Given the description of an element on the screen output the (x, y) to click on. 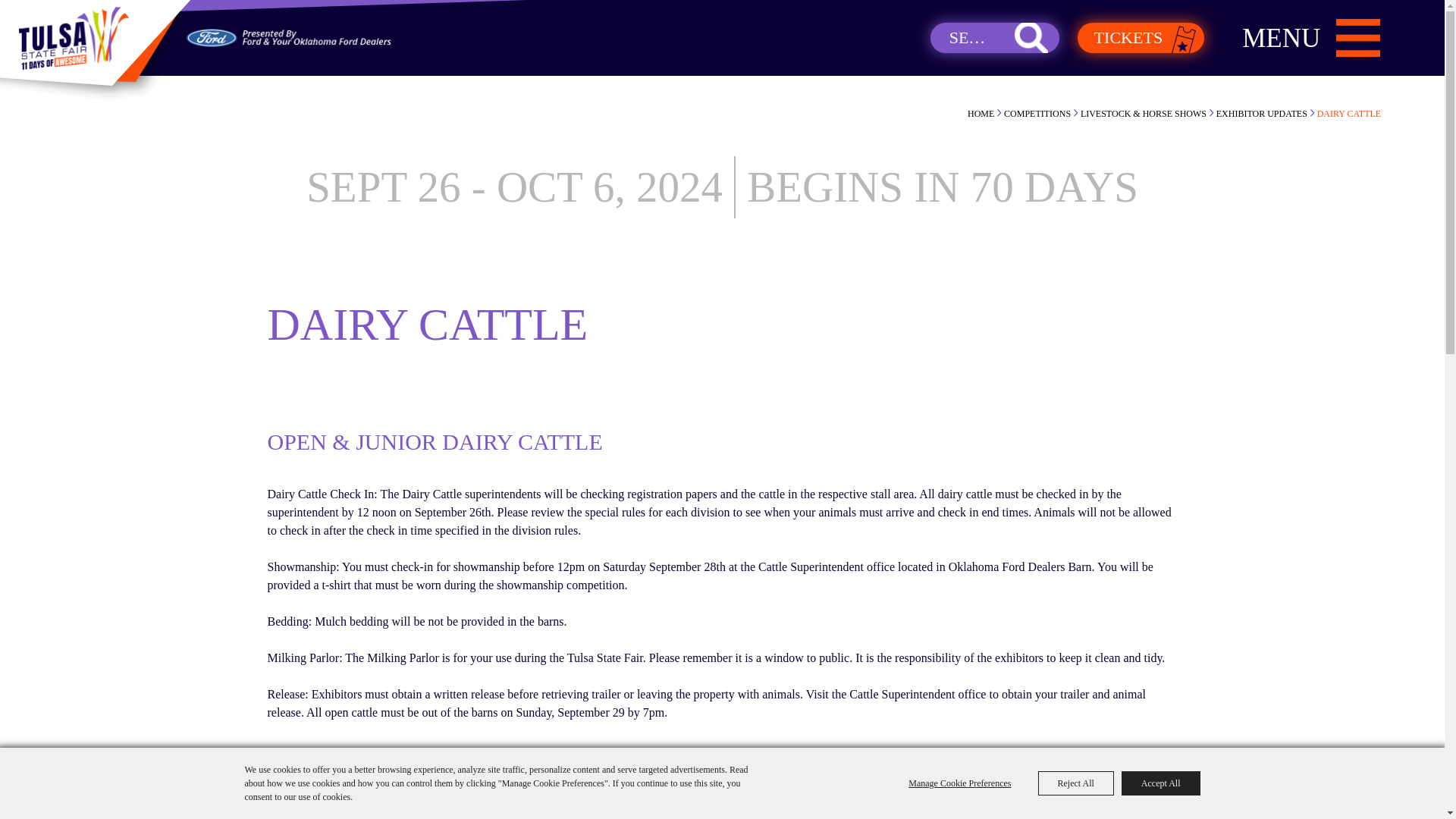
Search Website (994, 37)
Search Website (994, 37)
